Given the description of an element on the screen output the (x, y) to click on. 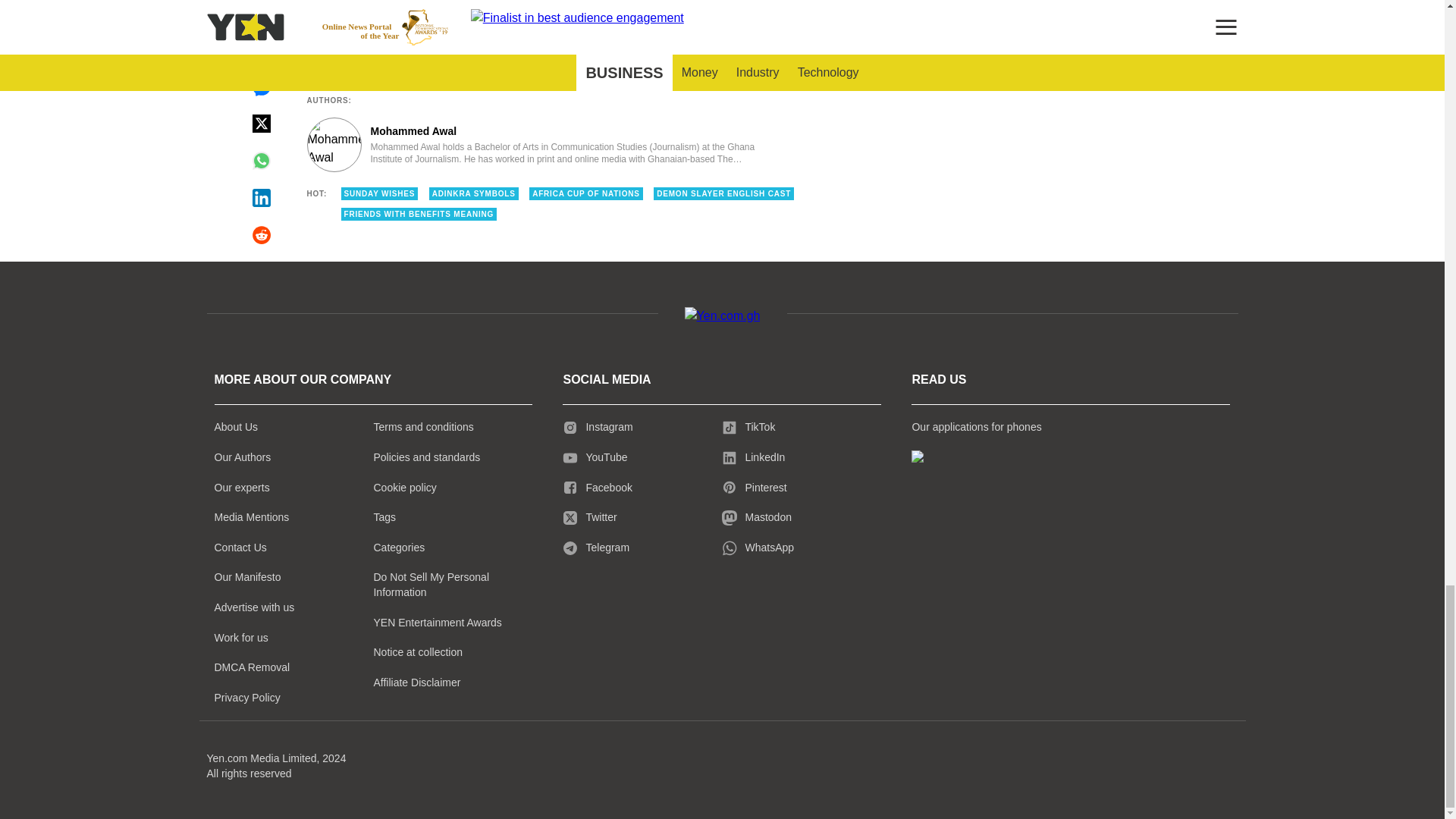
Author page (533, 144)
